Given the description of an element on the screen output the (x, y) to click on. 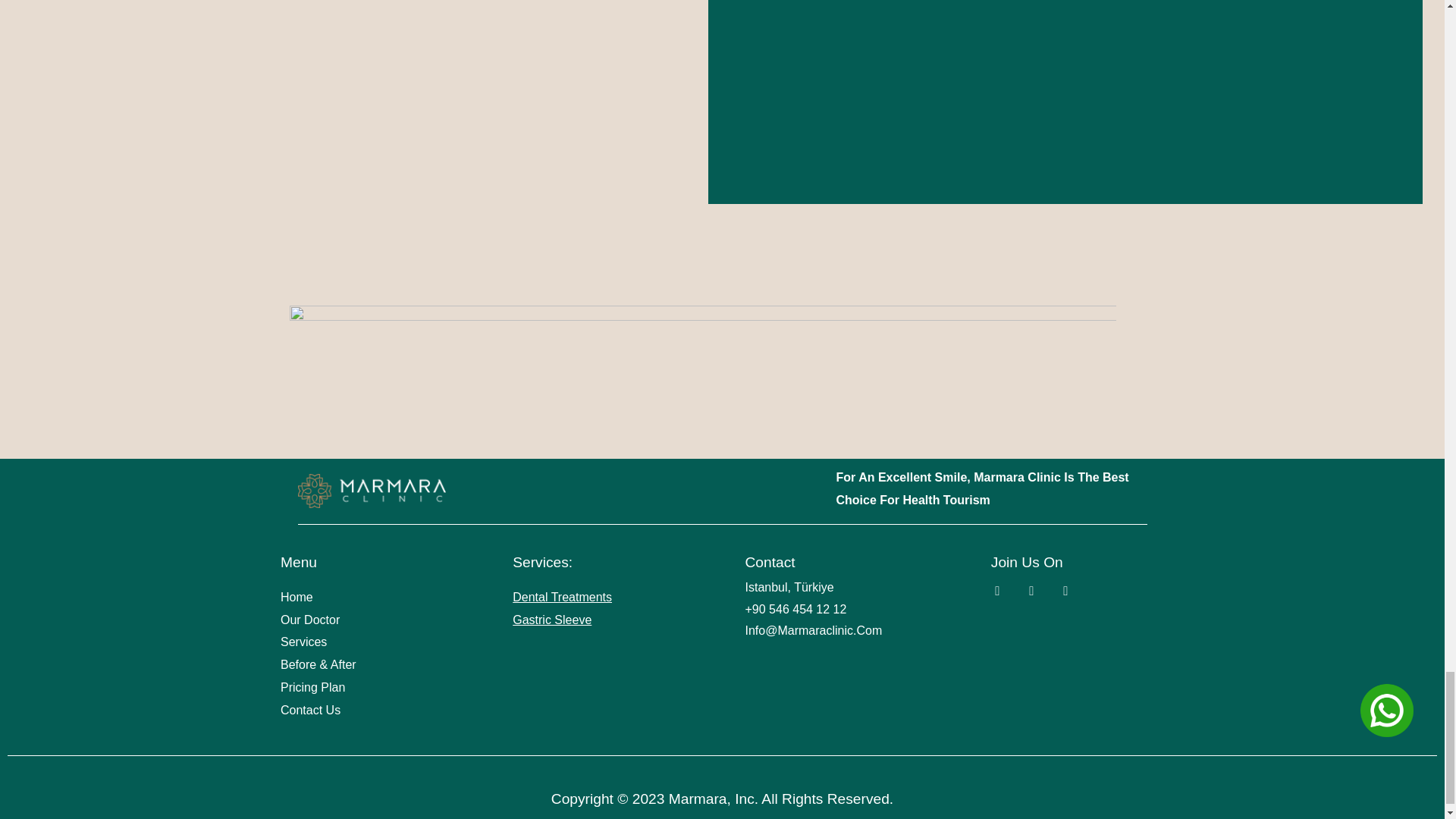
Our Doctor (374, 620)
Pricing Plan (374, 687)
Contact Us (374, 710)
Dental Treatments (561, 596)
Home (374, 597)
Services (374, 641)
